Given the description of an element on the screen output the (x, y) to click on. 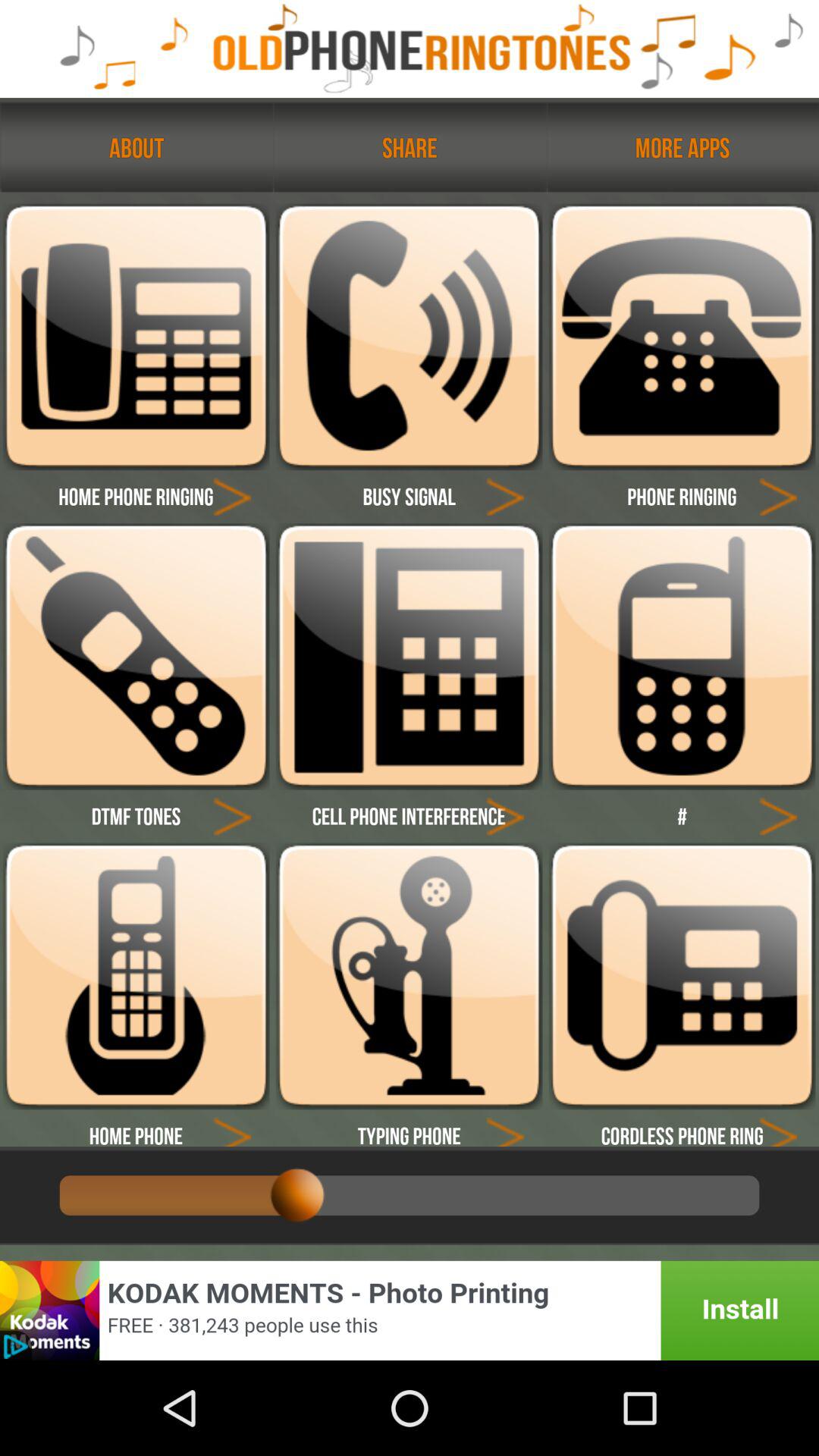
go back (232, 1127)
